Given the description of an element on the screen output the (x, y) to click on. 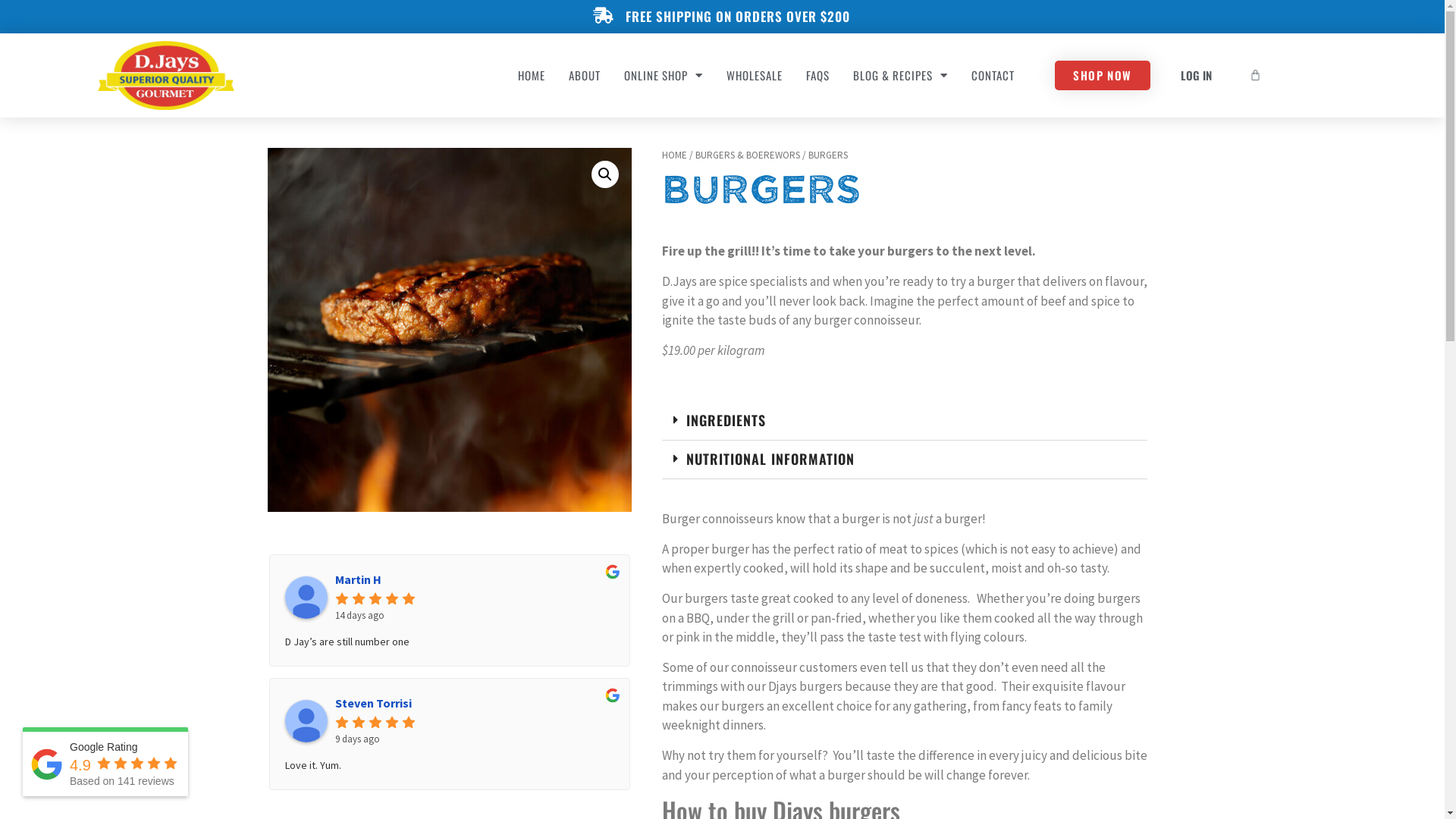
Martin H Element type: hover (306, 597)
Steven Torrisi Element type: hover (306, 720)
FAQS Element type: text (817, 74)
ABOUT Element type: text (584, 74)
BLOG & RECIPES Element type: text (900, 74)
ONLINE SHOP Element type: text (663, 74)
HOME Element type: text (531, 74)
BURGERS & BOEREWORS Element type: text (746, 154)
NUTRITIONAL INFORMATION Element type: text (769, 458)
INGREDIENTS Element type: text (725, 419)
SHOP NOW Element type: text (1101, 75)
CONTACT Element type: text (992, 74)
WHOLESALE Element type: text (754, 74)
LOG IN Element type: text (1195, 74)
Burger Cooking On A Grill Element type: hover (448, 329)
HOME Element type: text (673, 154)
